Given the description of an element on the screen output the (x, y) to click on. 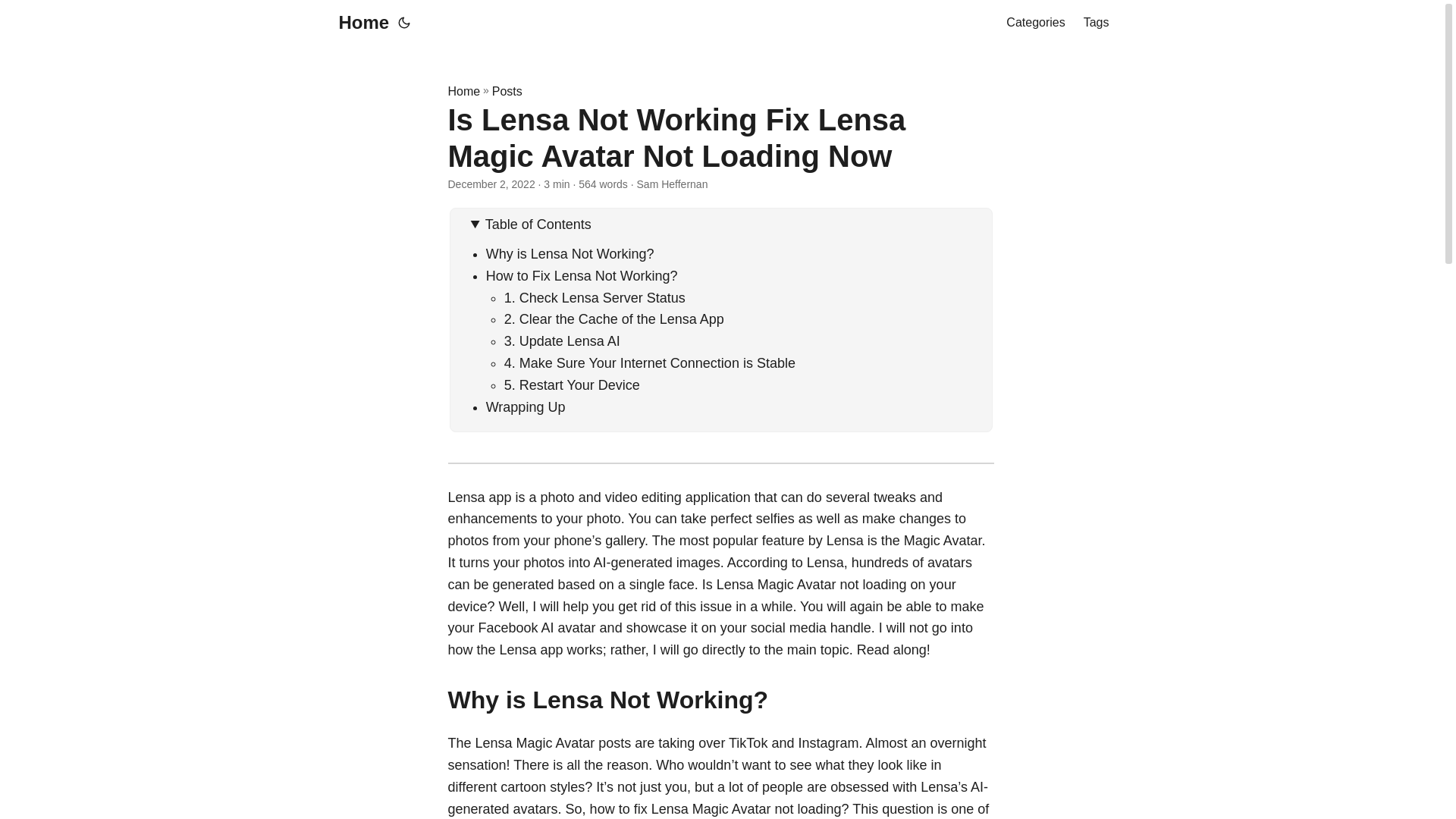
Home (463, 91)
3. Update Lensa AI (561, 340)
Categories (1035, 22)
Wrapping Up (526, 406)
1. Check Lensa Server Status (594, 297)
Why is Lensa Not Working? (569, 253)
Home (359, 22)
Posts (507, 91)
5. Restart Your Device (571, 385)
Categories (1035, 22)
4. Make Sure Your Internet Connection is Stable (648, 363)
How to Fix Lensa Not Working? (582, 275)
2. Clear the Cache of the Lensa App (613, 319)
